Given the description of an element on the screen output the (x, y) to click on. 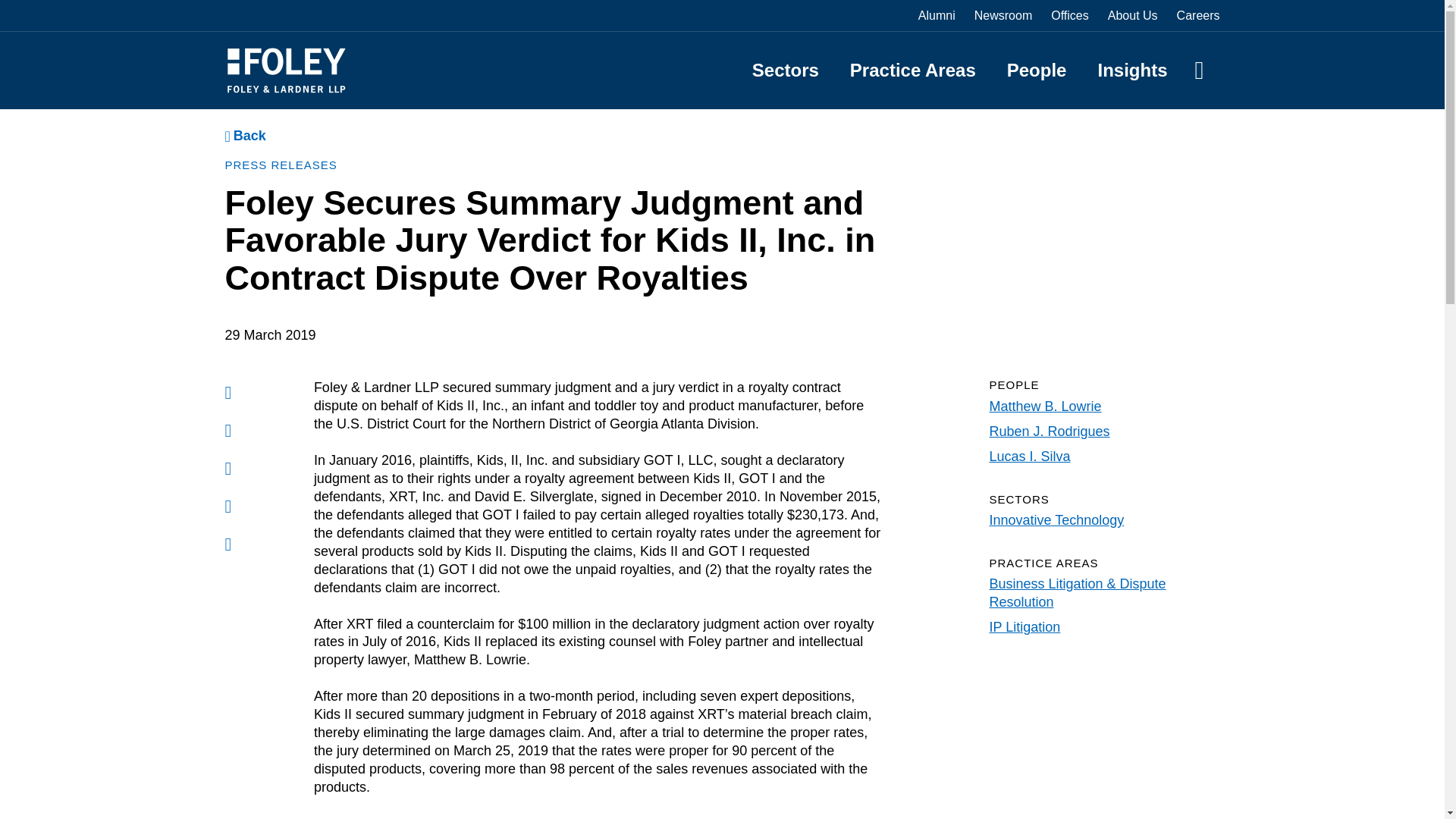
Back (244, 136)
People (1037, 70)
Alumni (936, 15)
PRESS RELEASES (280, 164)
Offices (1070, 15)
Careers (1198, 15)
Insights (1132, 70)
Lucas I. Silva (1029, 456)
About Us (1132, 15)
Newsroom (1003, 15)
Sectors (785, 70)
Ruben J. Rodrigues (1048, 431)
IP Litigation (1023, 626)
Innovative Technology (1056, 519)
Matthew B. Lowrie (1044, 406)
